Given the description of an element on the screen output the (x, y) to click on. 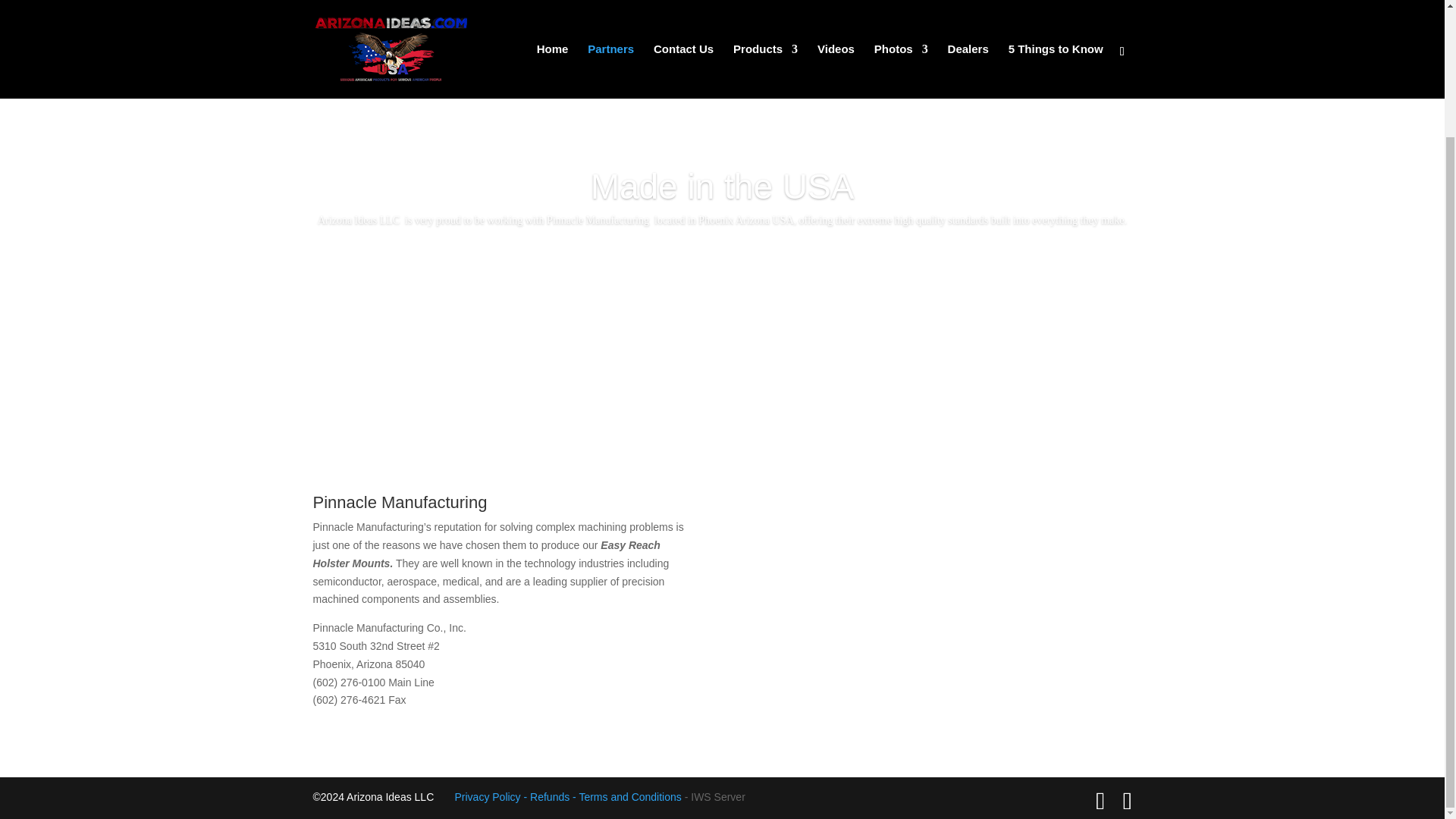
Privacy Policy (488, 797)
- Refunds - (551, 797)
Terms and Conditions (629, 797)
